Given the description of an element on the screen output the (x, y) to click on. 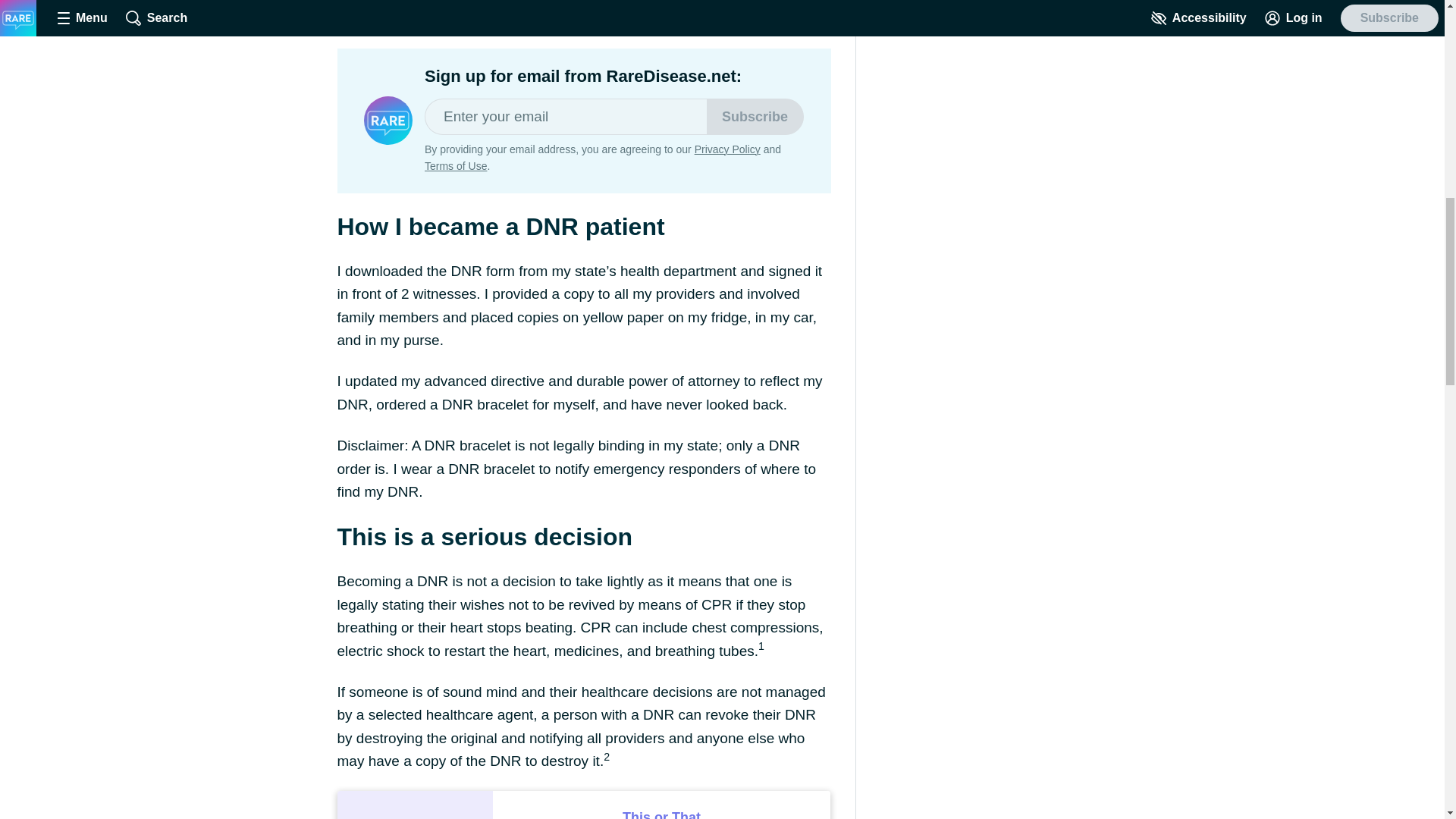
Subscribe (754, 116)
Privacy Policy (727, 149)
Terms of Use (455, 165)
